Given the description of an element on the screen output the (x, y) to click on. 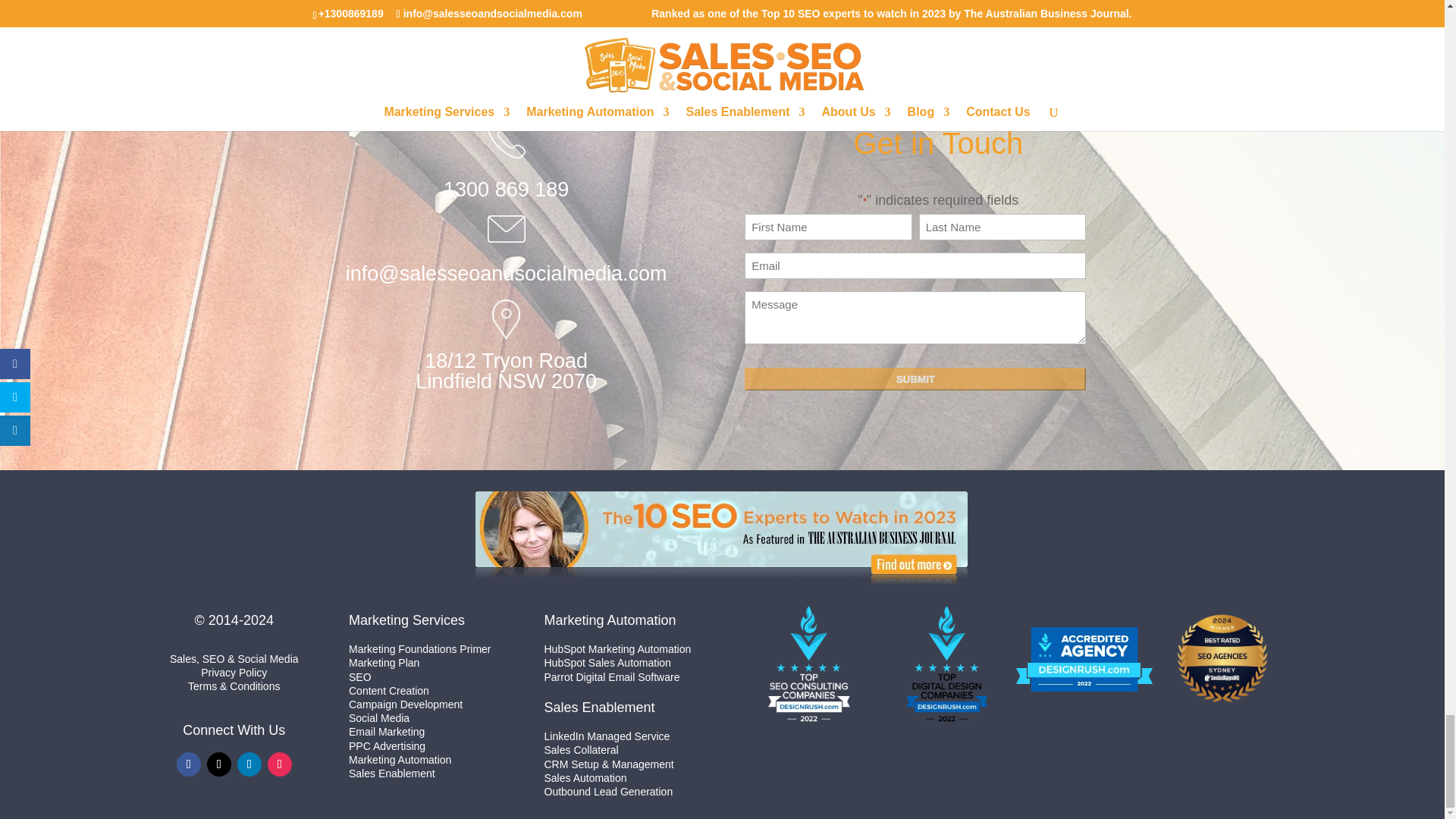
Follow on Instagram (279, 764)
Follow on LinkedIn (249, 764)
SUBMIT (915, 378)
Follow on Twitter (218, 764)
Follow on Facebook (188, 764)
